Given the description of an element on the screen output the (x, y) to click on. 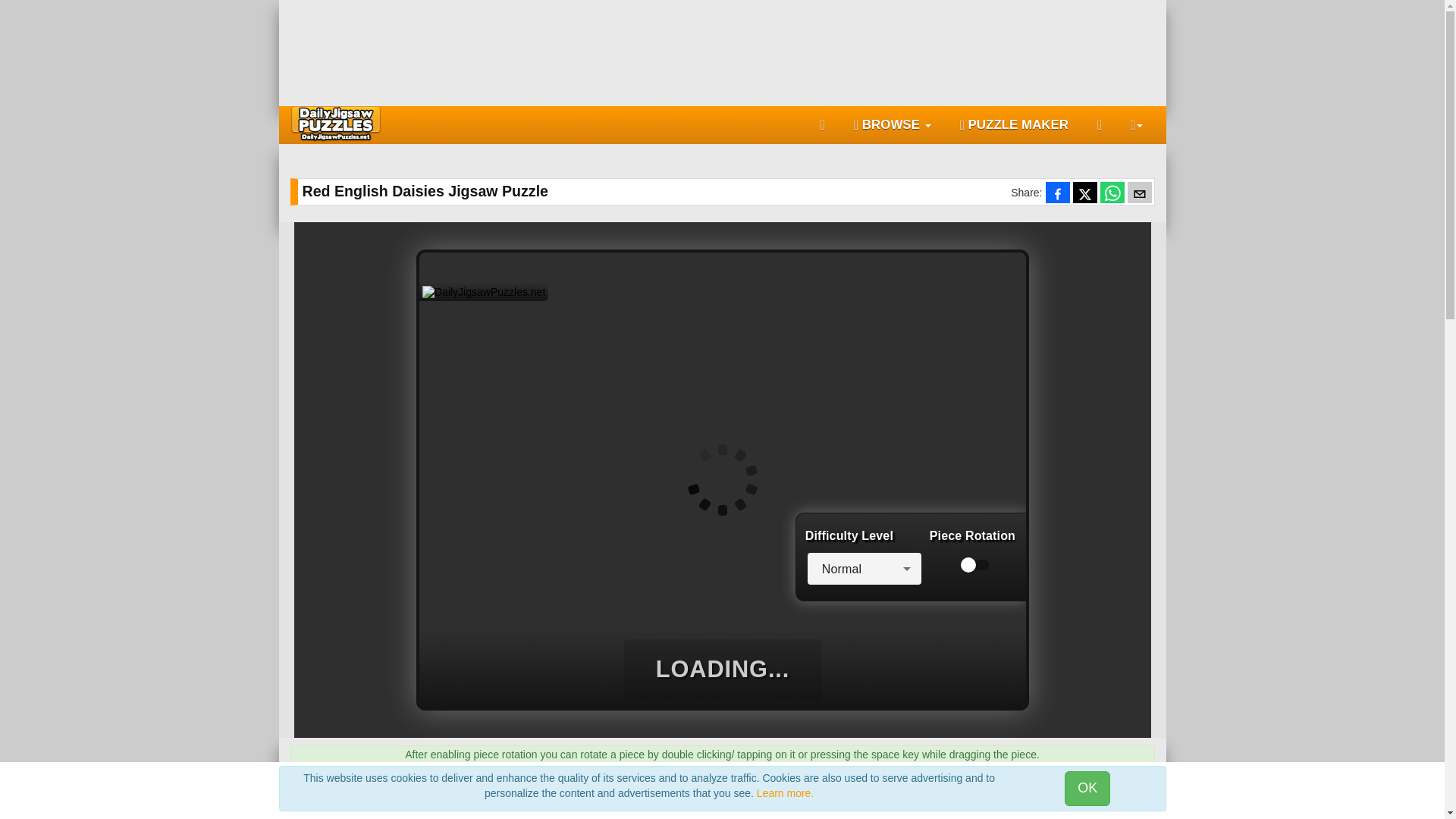
User Section (1130, 125)
Learn more. (785, 793)
Solve a random puzzle. (1099, 125)
Advertisement (722, 49)
Daily Jigsaw Puzzles Home Page (334, 123)
Browse All Puzzles (892, 125)
About cookies (785, 793)
OK (1086, 788)
BROWSE (892, 125)
PUZZLE MAKER (1014, 125)
Make your own jigsaw using our free puzzle maker (1014, 125)
Home Page (822, 125)
